Given the description of an element on the screen output the (x, y) to click on. 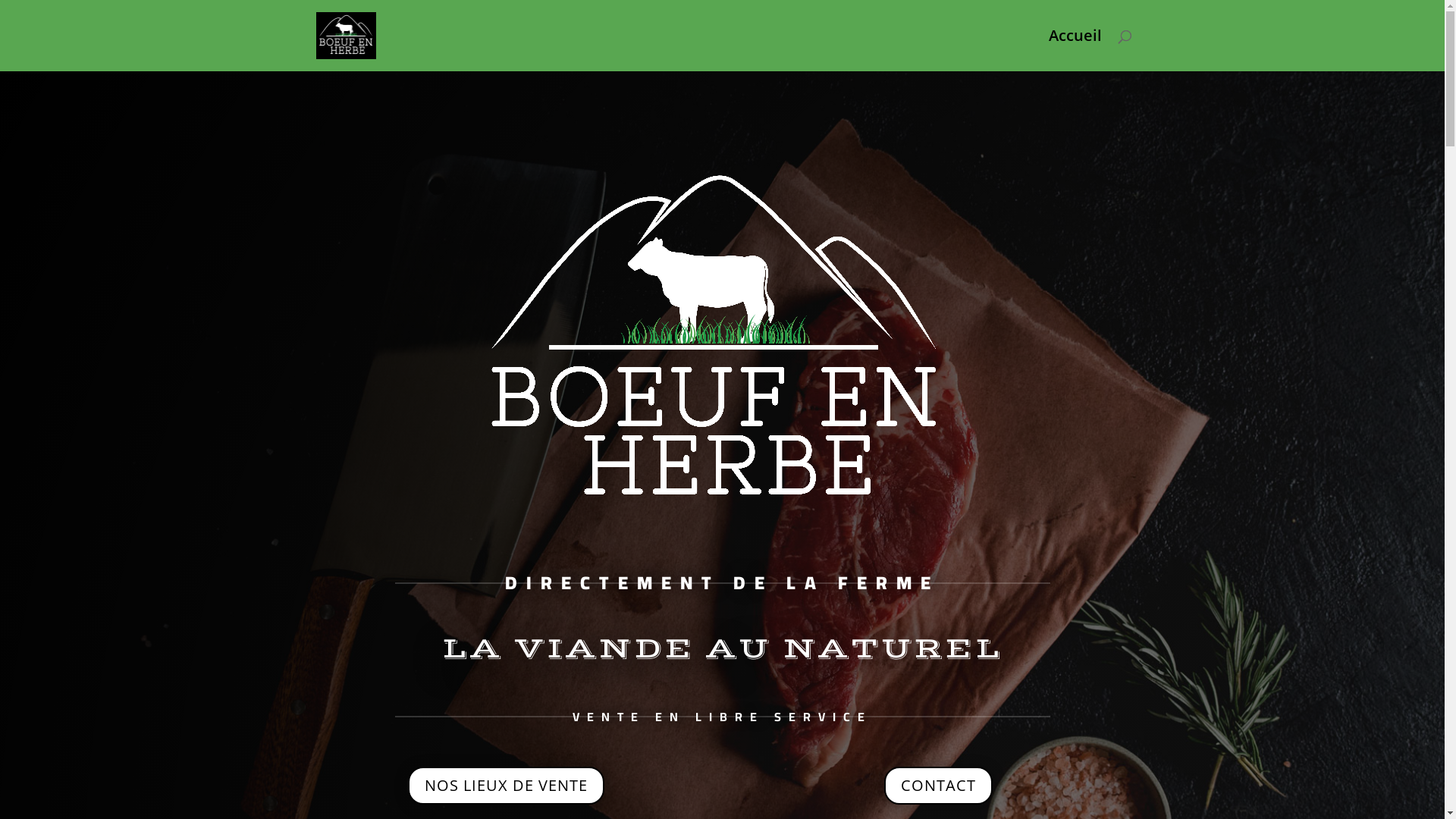
NOS LIEUX DE VENTE Element type: text (505, 785)
Accueil Element type: text (1074, 50)
BOEUF-EN-HERBE-PNG_1200 Element type: hover (721, 346)
CONTACT Element type: text (938, 785)
